Given the description of an element on the screen output the (x, y) to click on. 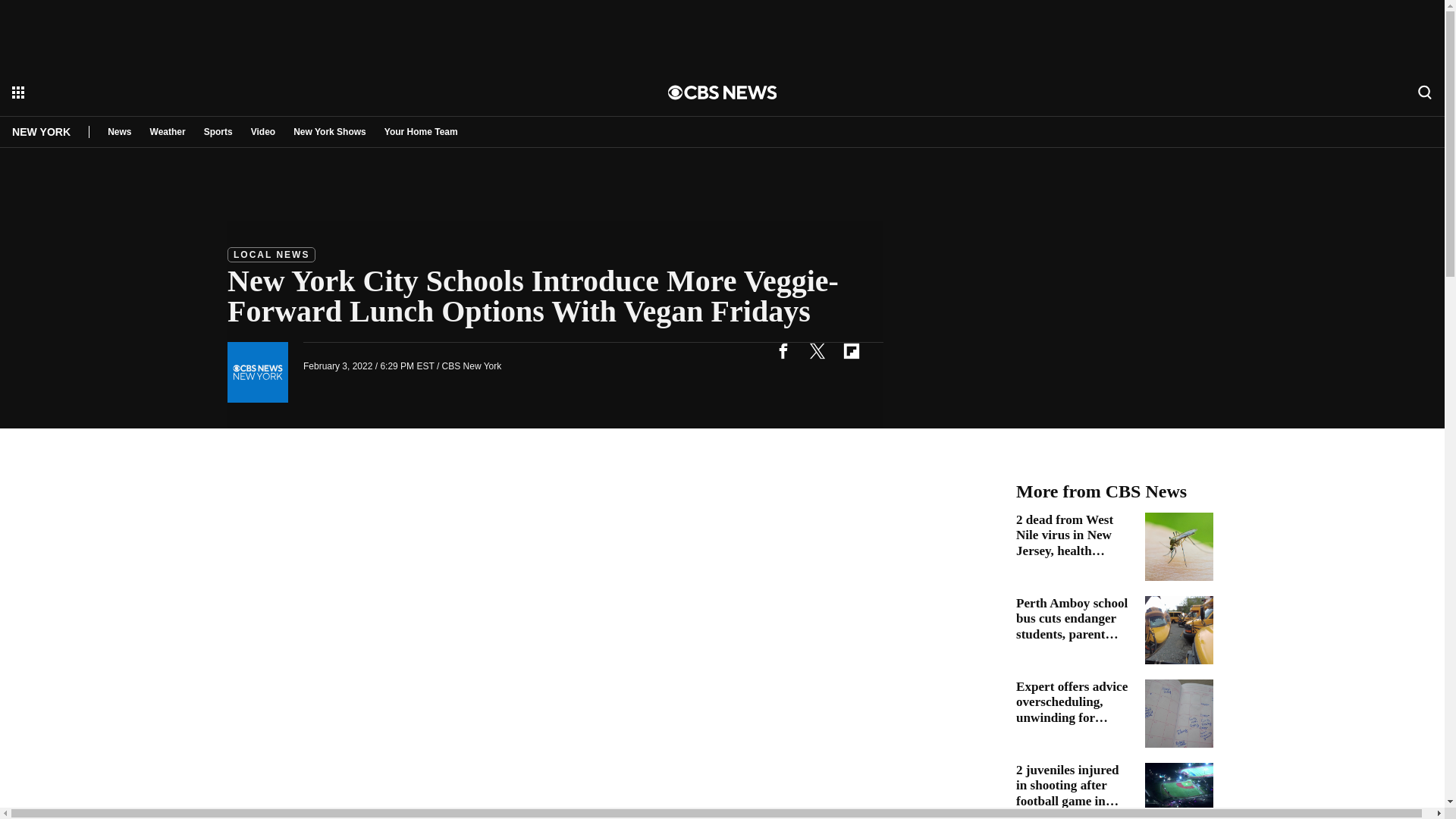
twitter (816, 350)
flipboard (850, 350)
facebook (782, 350)
